Given the description of an element on the screen output the (x, y) to click on. 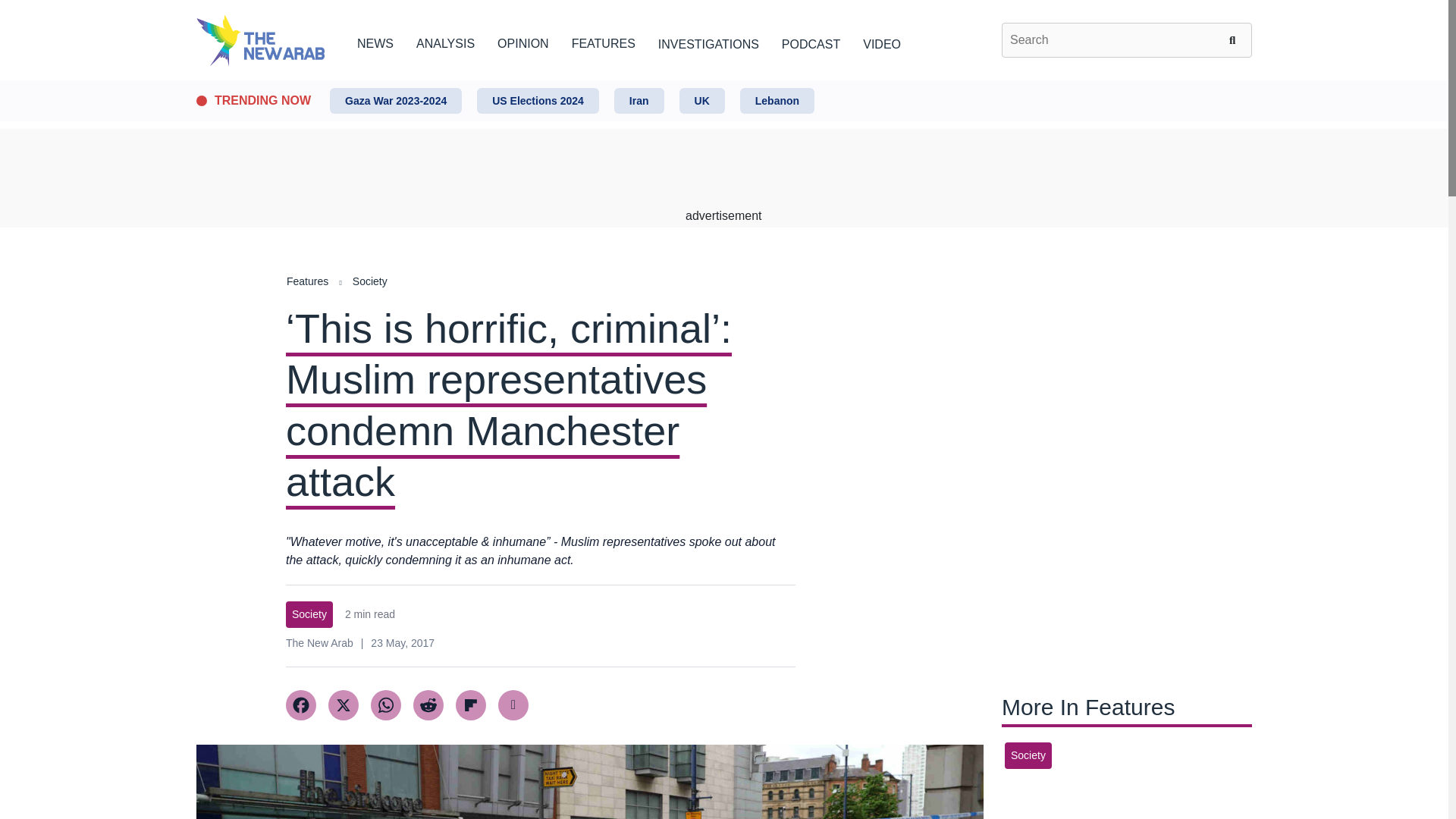
OPINION (523, 41)
Skip to main content (724, 81)
ANALYSIS (445, 41)
NEWS (375, 41)
Search (1234, 39)
